Given the description of an element on the screen output the (x, y) to click on. 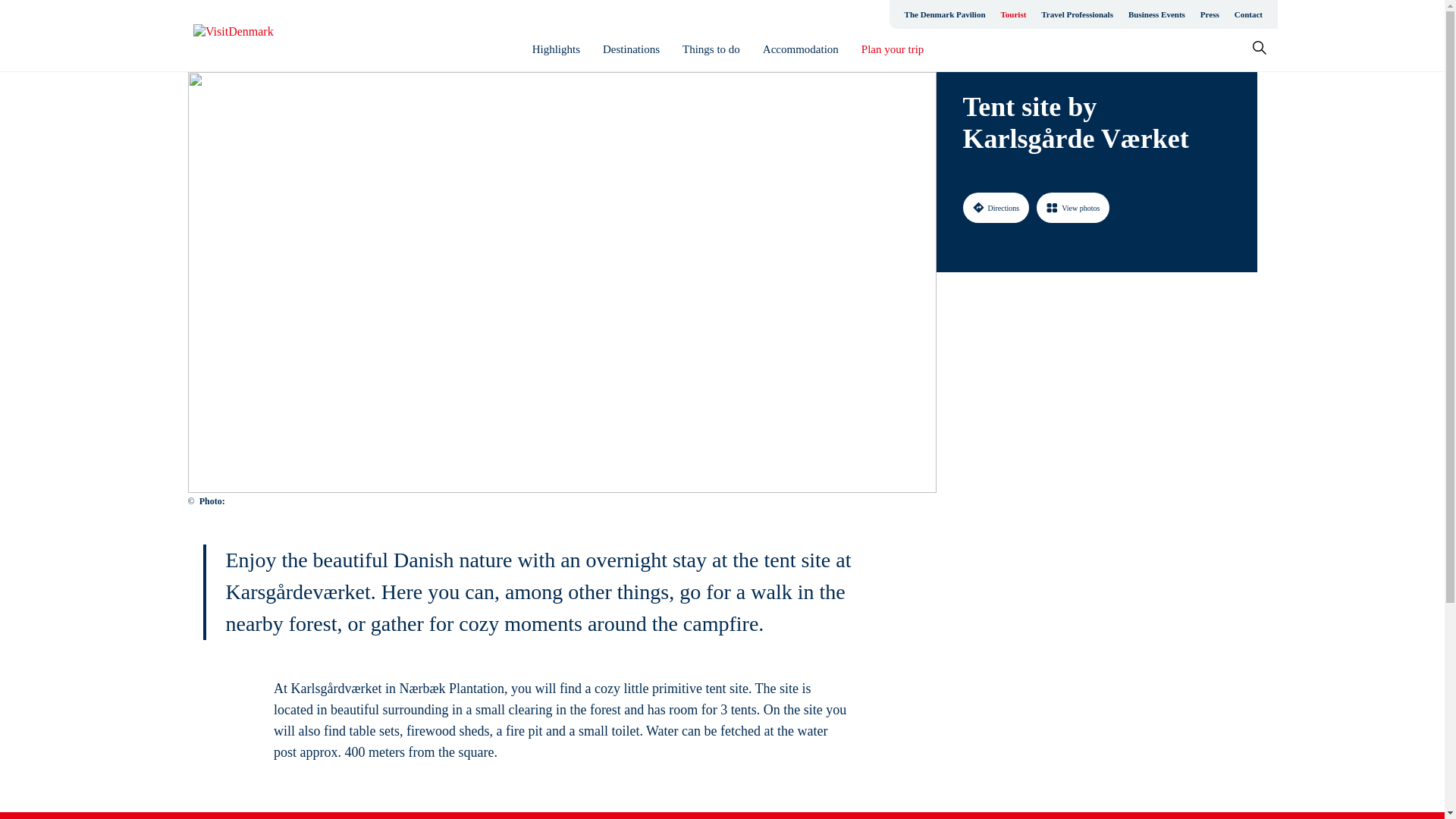
Plan your trip (892, 49)
The Denmark Pavilion (944, 14)
Accommodation (800, 49)
Directions (995, 207)
Business Events (1156, 14)
Things to do (710, 49)
Highlights (555, 49)
Contact (1248, 14)
Destinations (630, 49)
Go to homepage (253, 35)
